Given the description of an element on the screen output the (x, y) to click on. 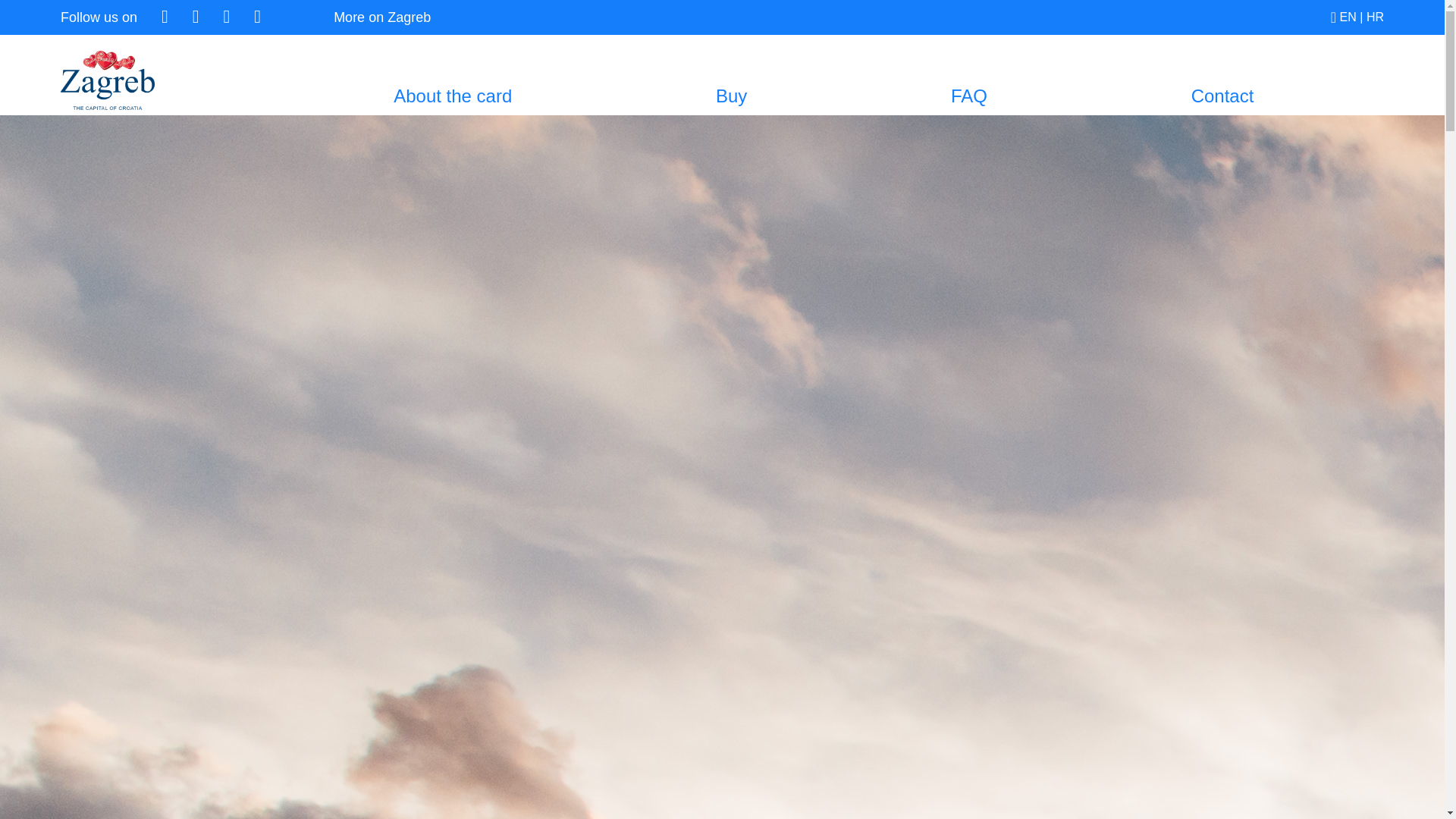
Buy (731, 95)
EN (1347, 16)
Contact (1221, 95)
More on Zagreb (381, 16)
HR (1375, 16)
FAQ (968, 95)
About the card (452, 95)
